Given the description of an element on the screen output the (x, y) to click on. 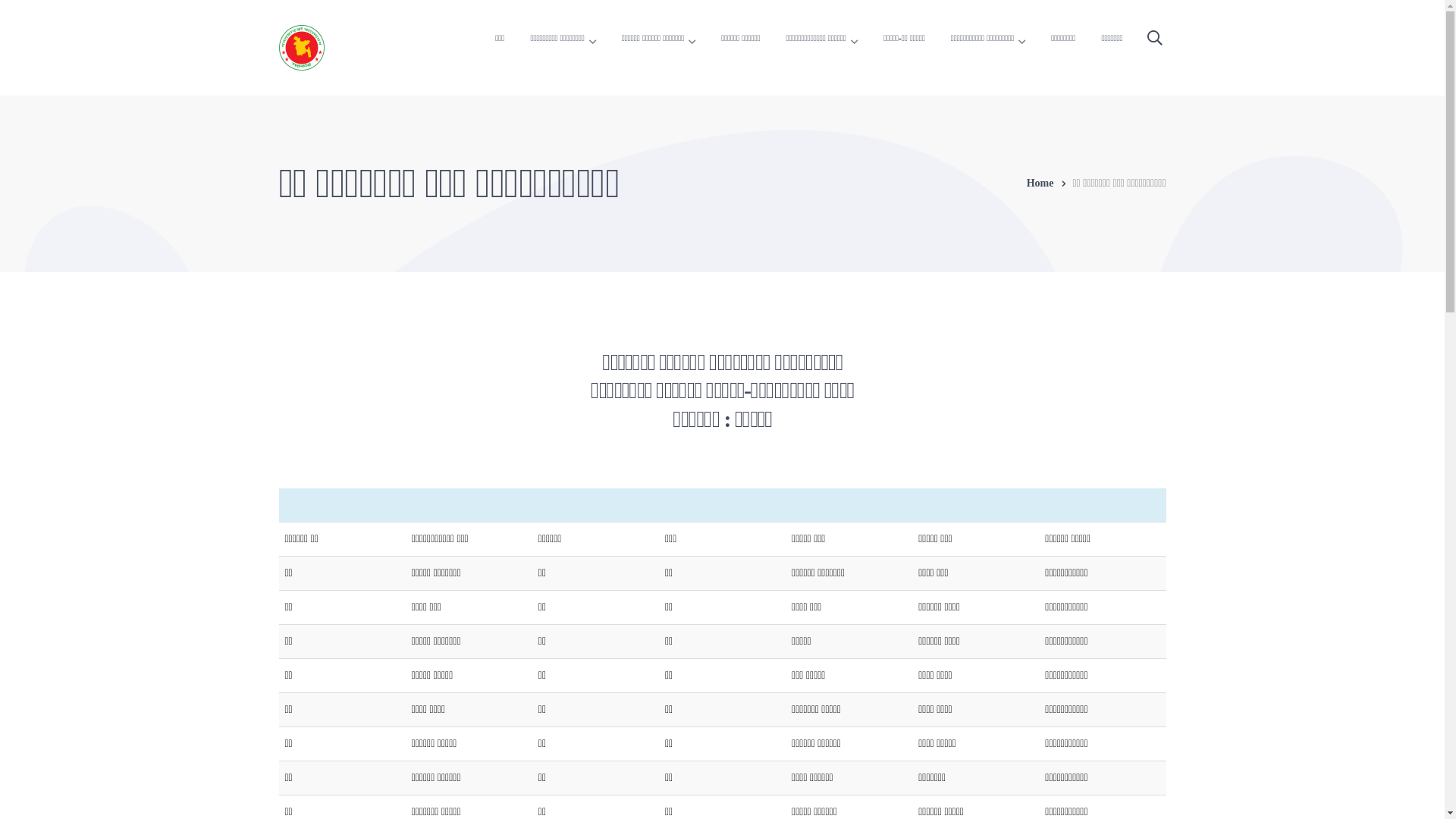
Home Element type: text (1049, 183)
